Given the description of an element on the screen output the (x, y) to click on. 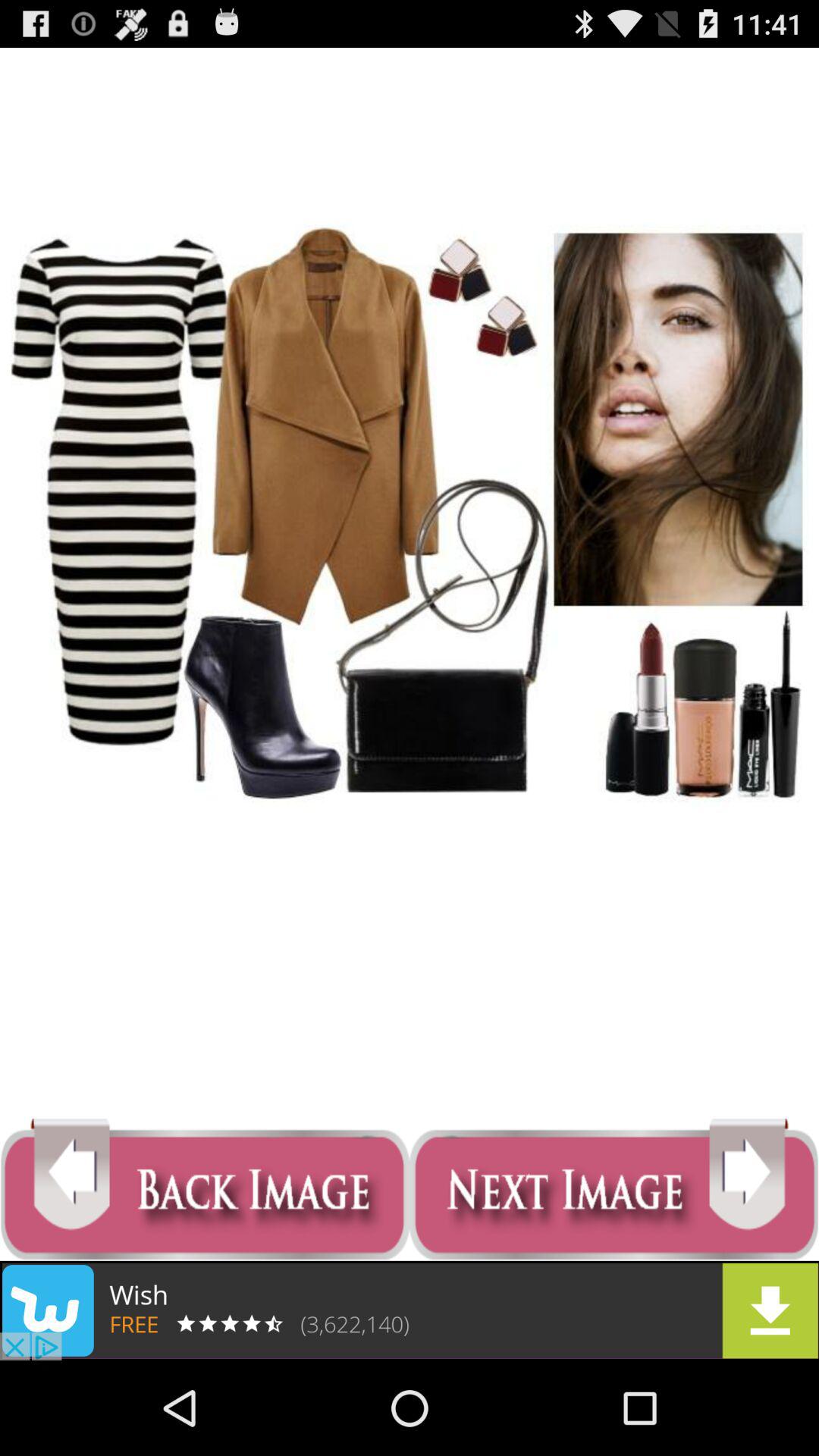
next image (614, 1189)
